Given the description of an element on the screen output the (x, y) to click on. 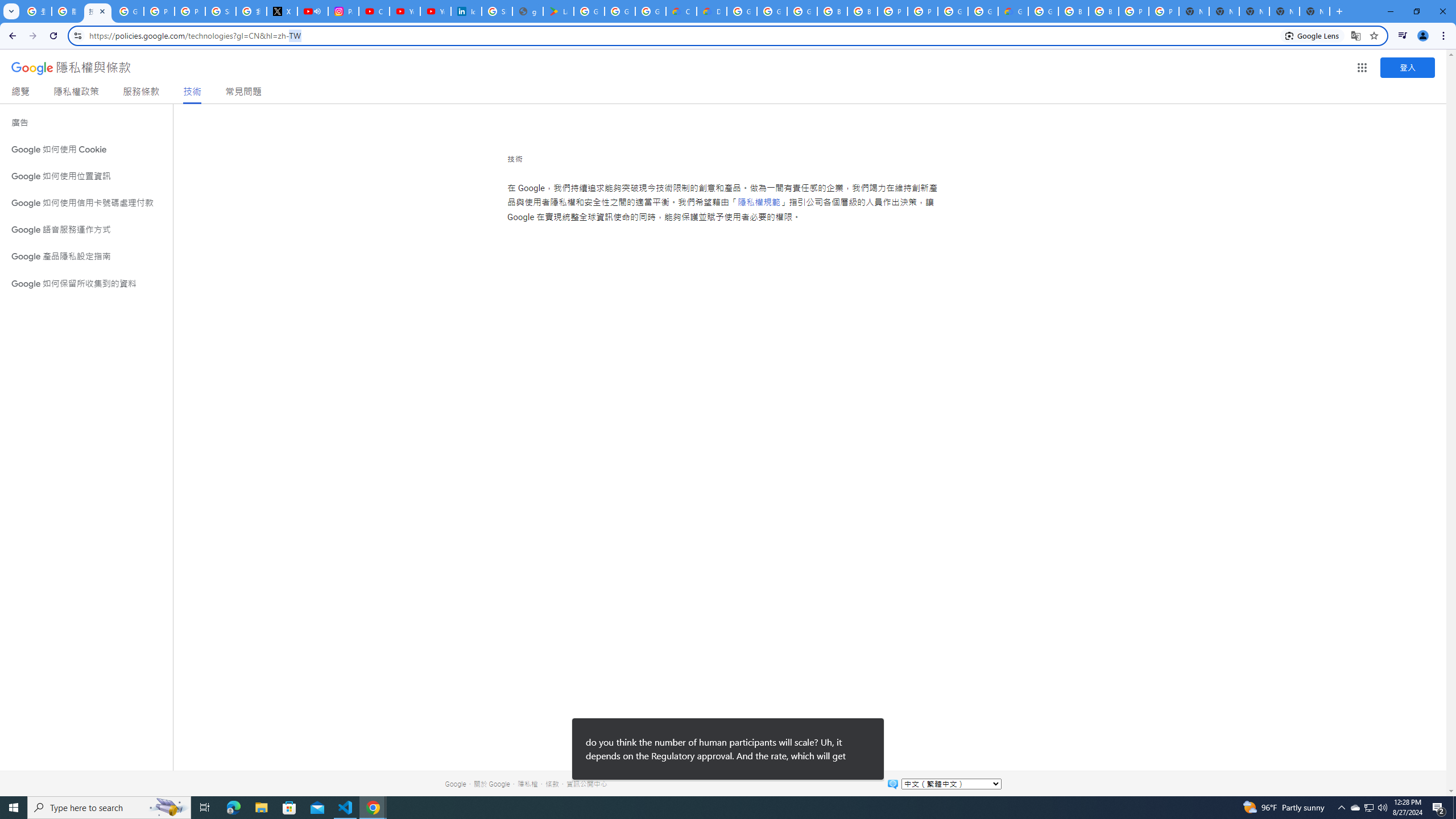
Sign in - Google Accounts (220, 11)
Browse Chrome as a guest - Computer - Google Chrome Help (862, 11)
Translate this page (1355, 35)
Google Cloud Platform (1042, 11)
